Given the description of an element on the screen output the (x, y) to click on. 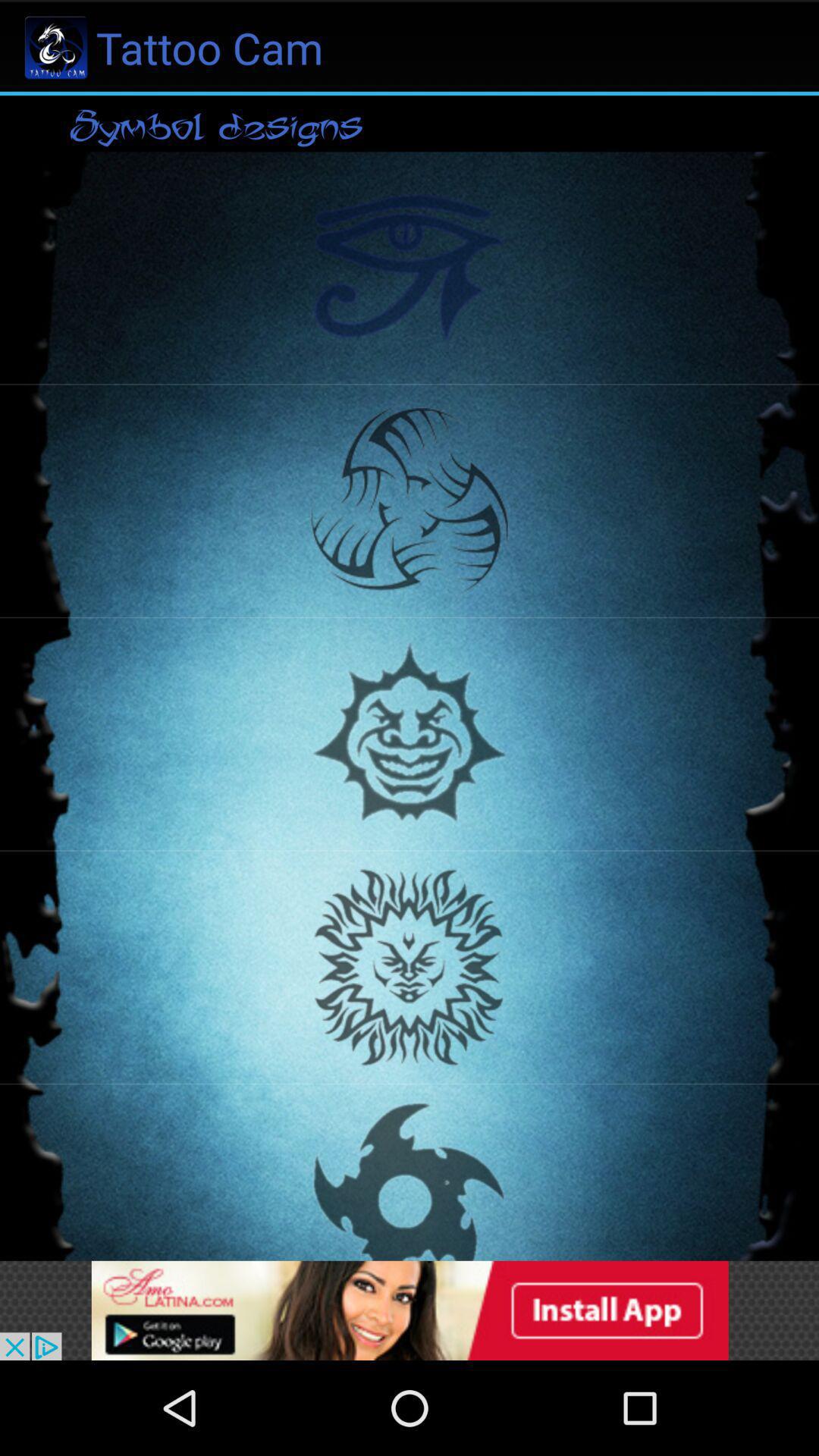
go to advertisement (409, 1310)
